Given the description of an element on the screen output the (x, y) to click on. 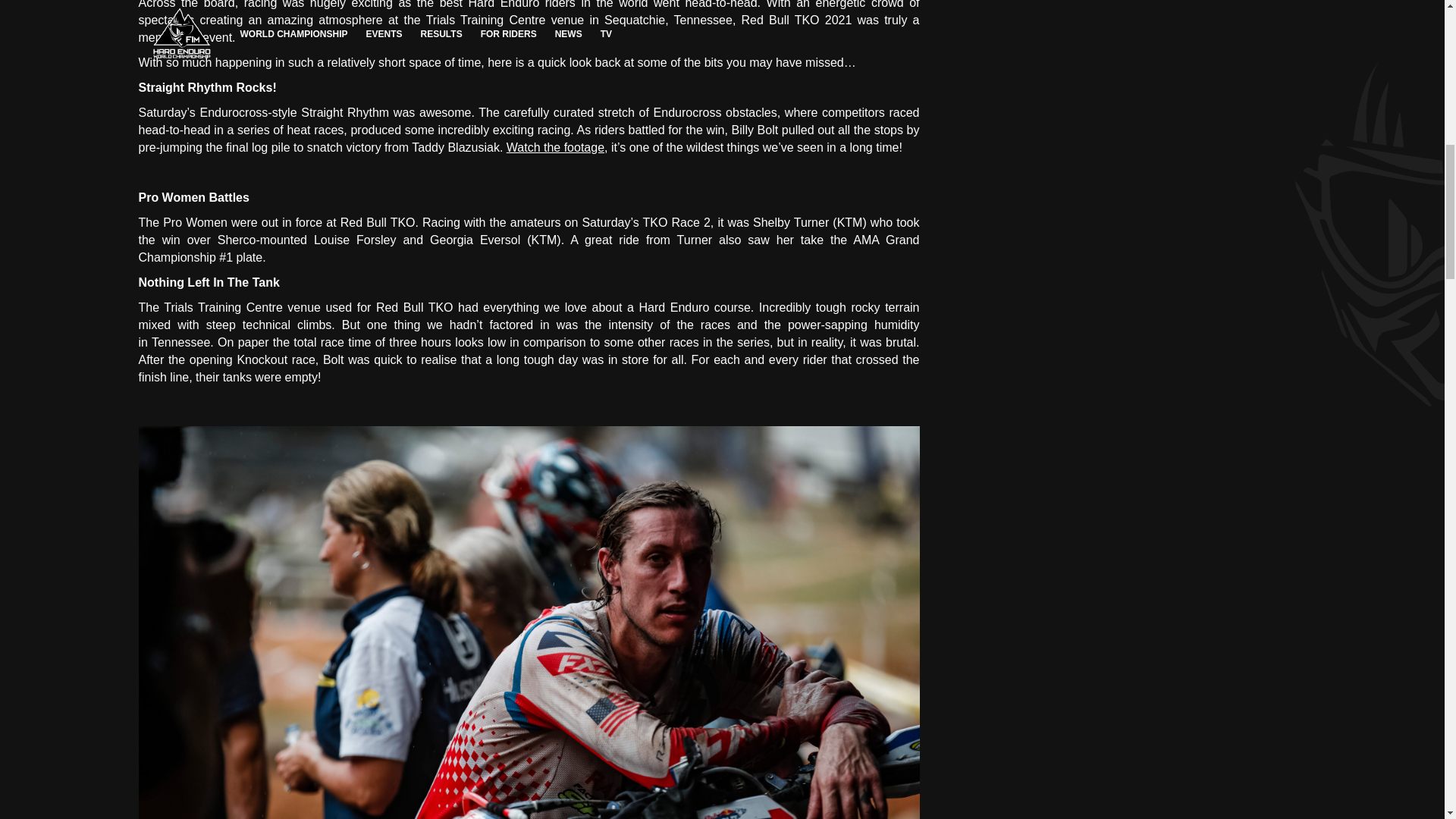
Watch the footage (555, 146)
